Given the description of an element on the screen output the (x, y) to click on. 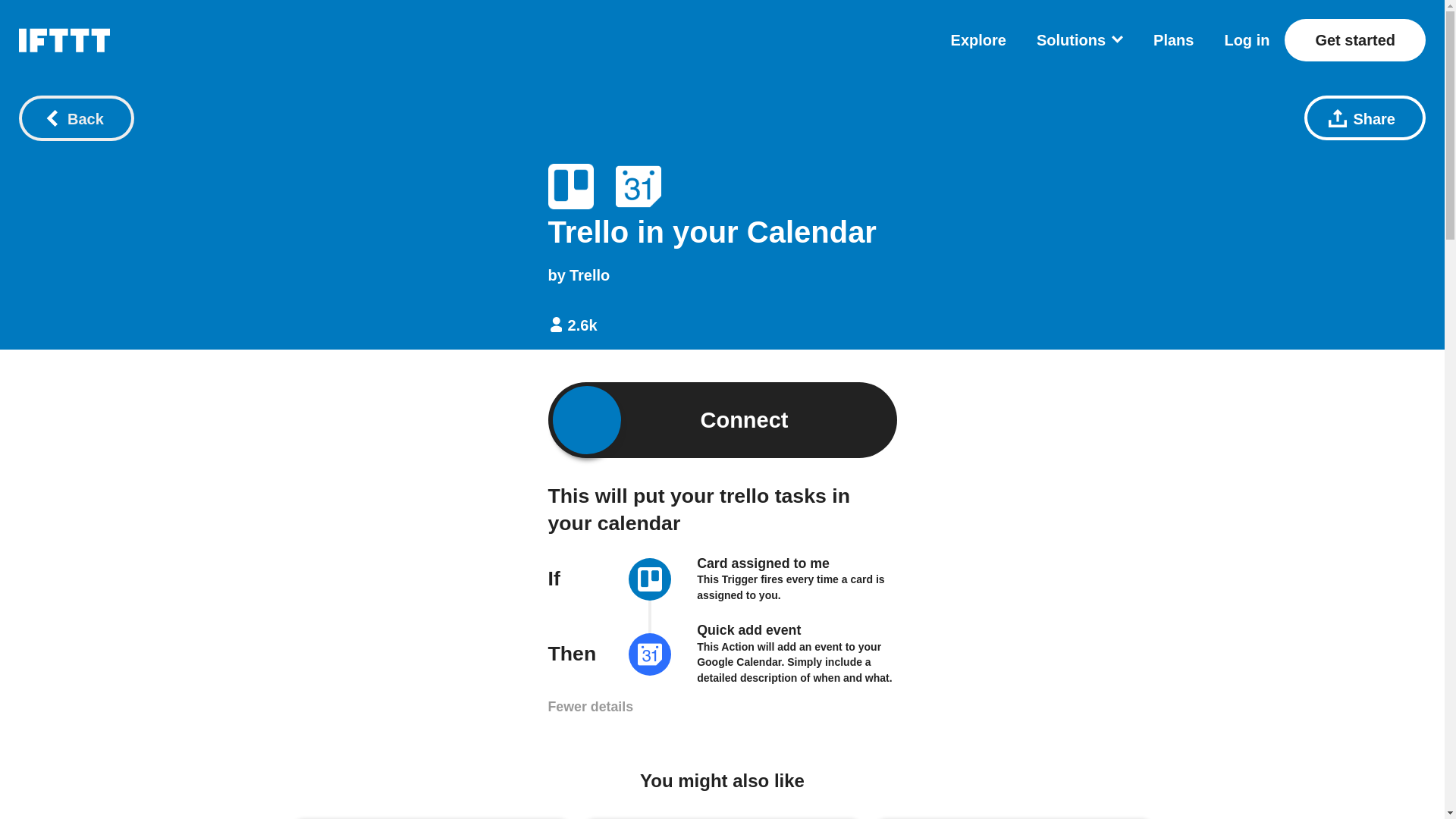
Card assigned to me (763, 563)
Share (1364, 117)
Home (64, 40)
Get started (1354, 39)
Google Calendar Quick add event. (638, 186)
Fewer details (590, 707)
Quick add event (748, 630)
Quick add event (748, 630)
Explore (978, 39)
Log in (1246, 39)
Trello (649, 580)
Card assigned to me (763, 563)
Trello (589, 274)
This Trigger fires every time a card is assigned to you. (790, 586)
